Given the description of an element on the screen output the (x, y) to click on. 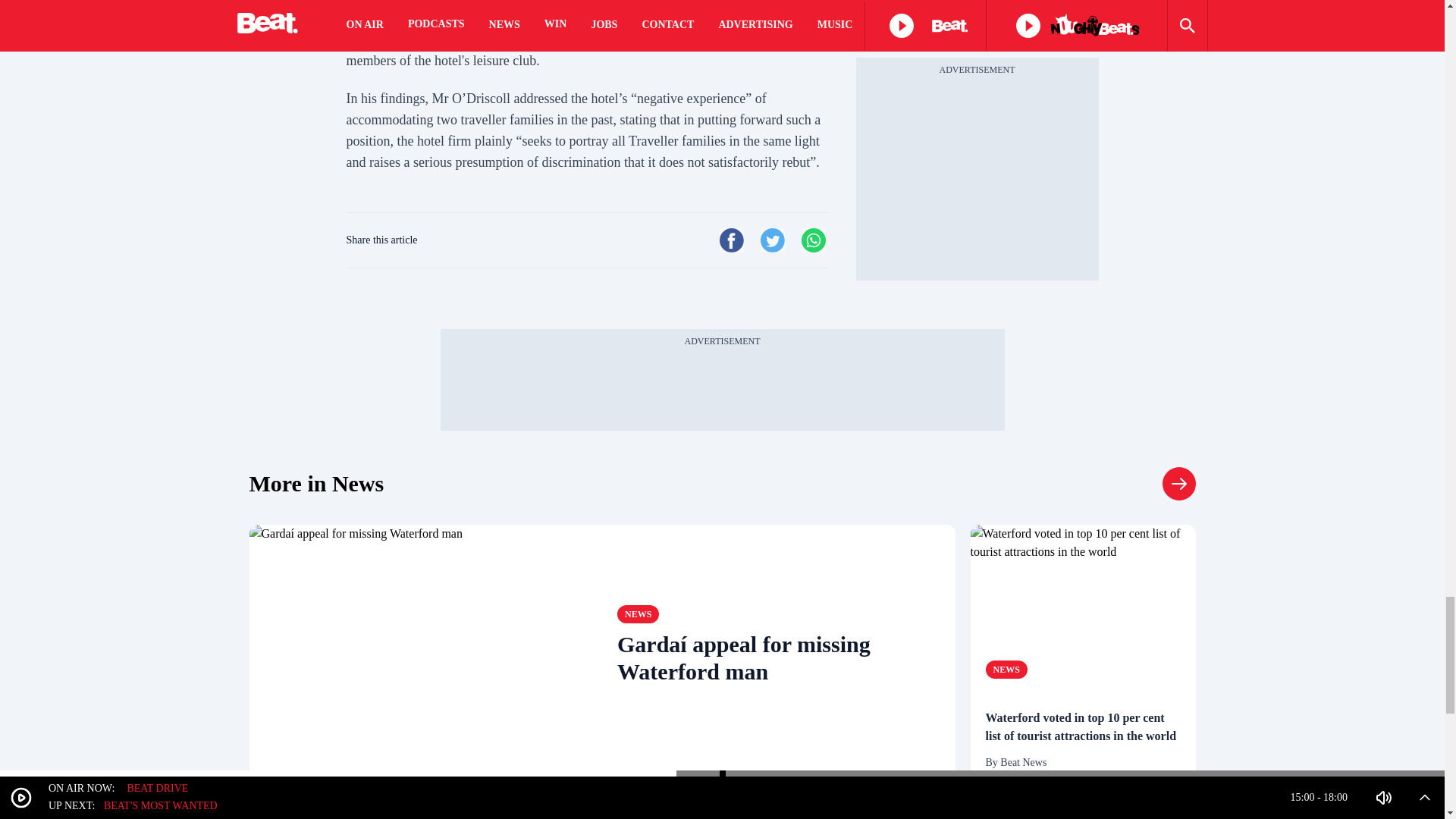
News (1178, 483)
News (316, 483)
News (1006, 669)
News (638, 614)
